Given the description of an element on the screen output the (x, y) to click on. 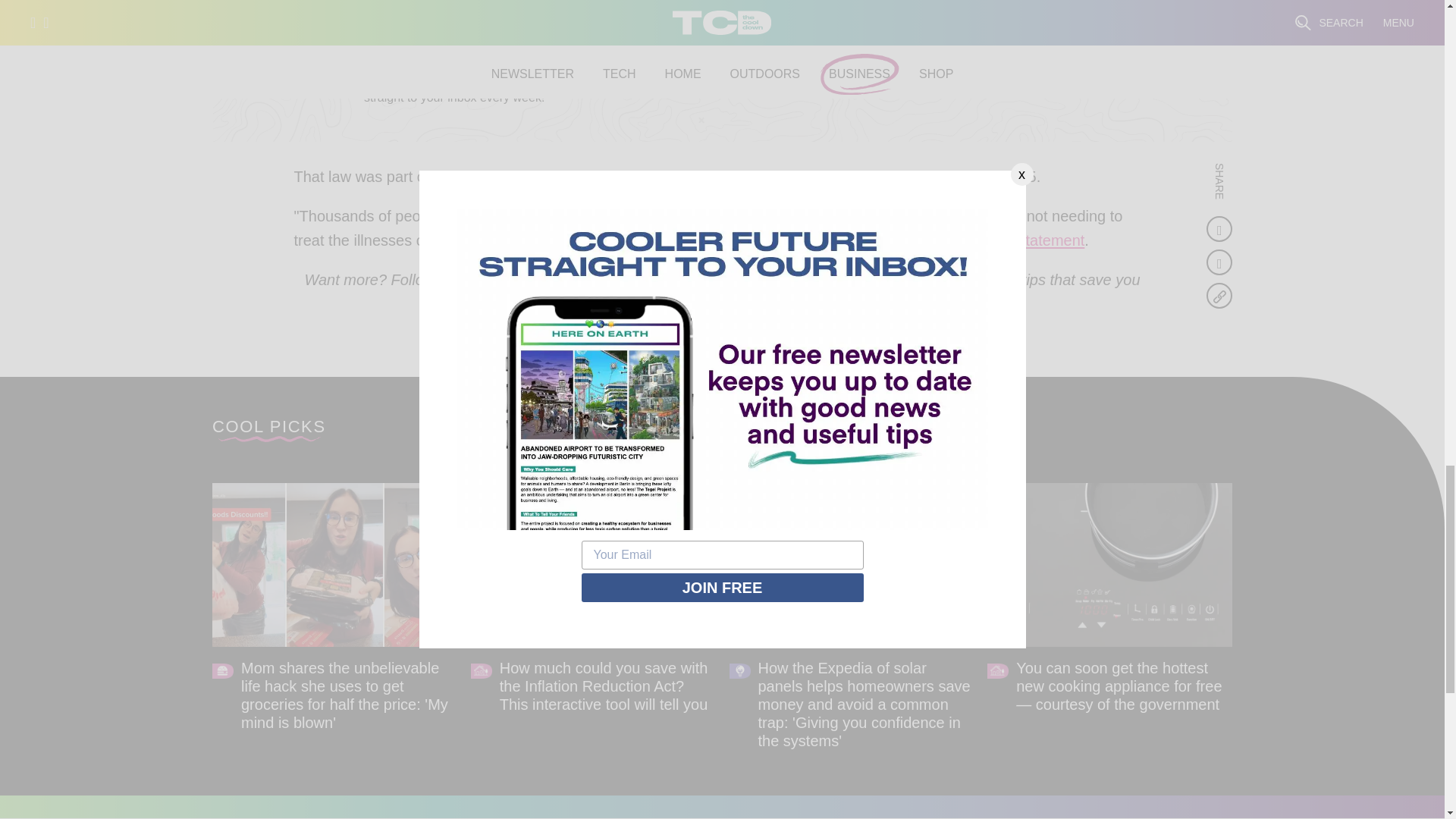
Sign Up (1038, 79)
